Given the description of an element on the screen output the (x, y) to click on. 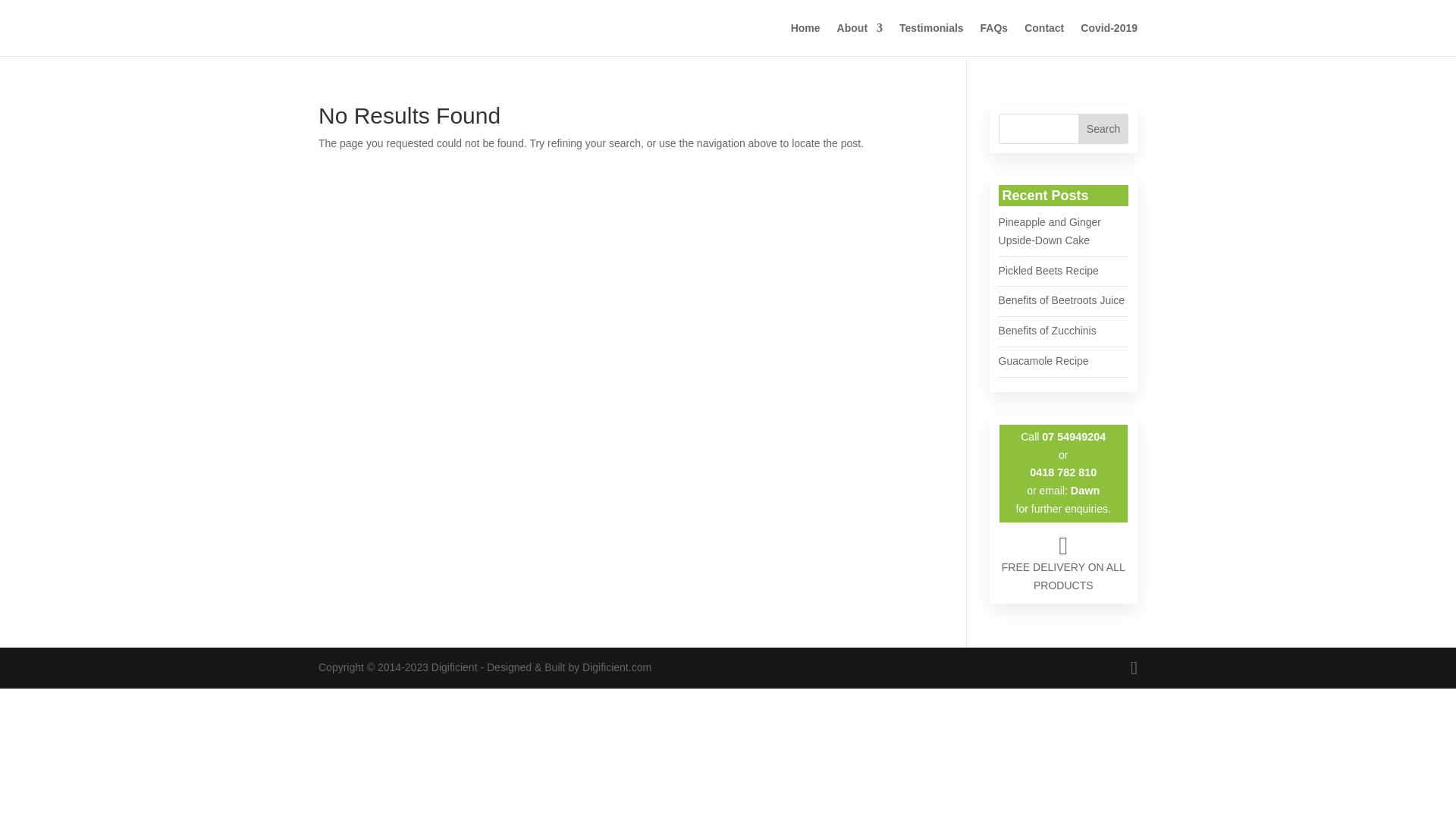
Pineapple and Ginger Upside-Down Cake Element type: text (1049, 231)
0418 782 810 Element type: text (1062, 472)
Testimonials Element type: text (931, 39)
FAQs Element type: text (994, 39)
Covid-2019 Element type: text (1108, 39)
Search Element type: text (1103, 128)
Benefits of Zucchinis Element type: text (1047, 330)
Guacamole Recipe Element type: text (1043, 360)
Home Element type: text (805, 39)
Benefits of Beetroots Juice Element type: text (1061, 300)
Dawn Element type: text (1084, 490)
Contact Element type: text (1043, 39)
About Element type: text (859, 39)
Pickled Beets Recipe Element type: text (1048, 270)
07 54949204 Element type: text (1073, 436)
